Given the description of an element on the screen output the (x, y) to click on. 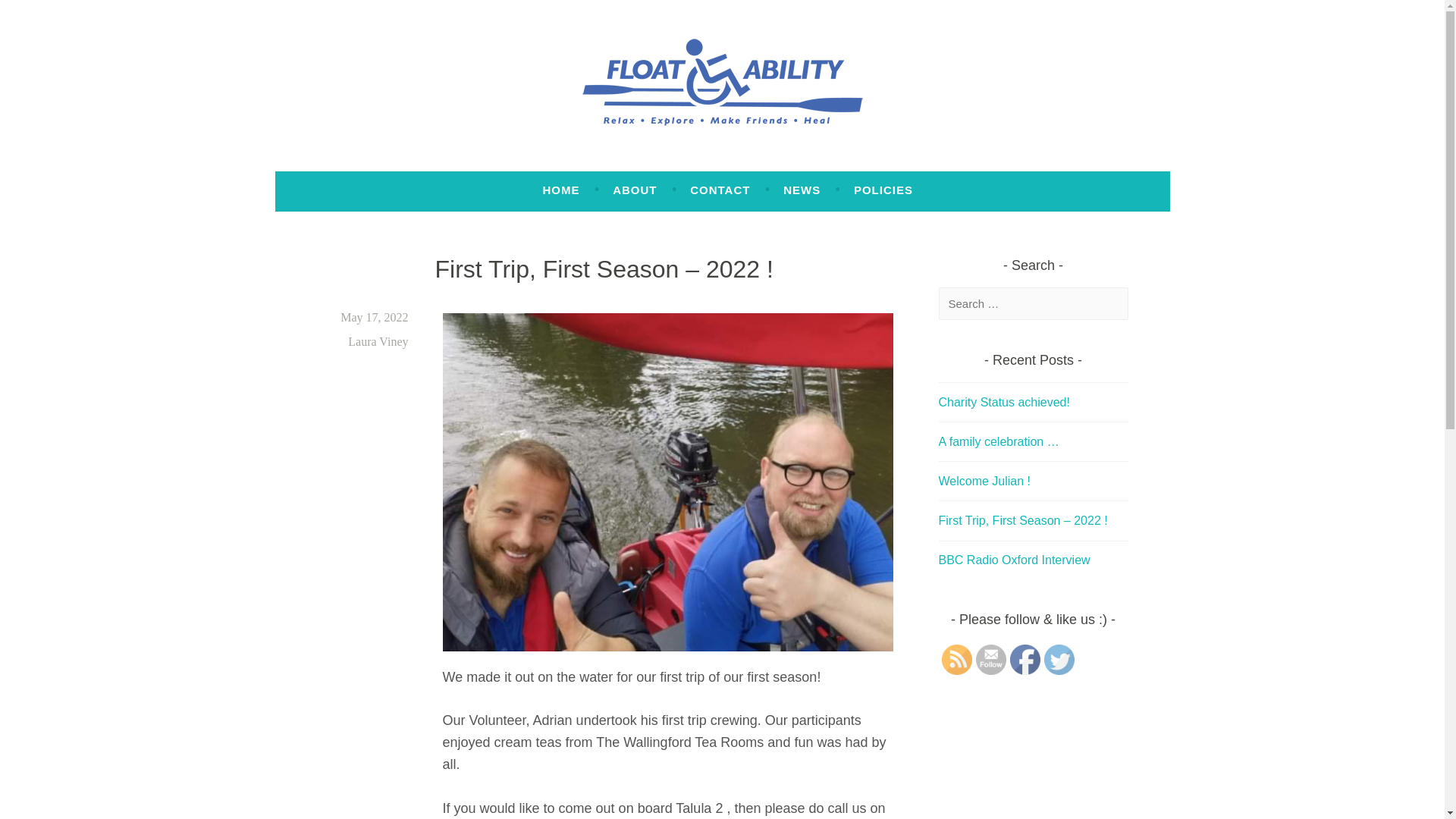
HOME (560, 189)
Charity Status achieved! (1004, 401)
BBC Radio Oxford Interview (1014, 559)
ABOUT (634, 189)
Floatability (399, 164)
Follow by Email (990, 659)
NEWS (802, 189)
Welcome Julian ! (984, 481)
RSS (957, 659)
Laura Viney (377, 341)
Twitter (1058, 659)
Search (37, 15)
CONTACT (719, 189)
Facebook (1025, 659)
POLICIES (882, 189)
